Given the description of an element on the screen output the (x, y) to click on. 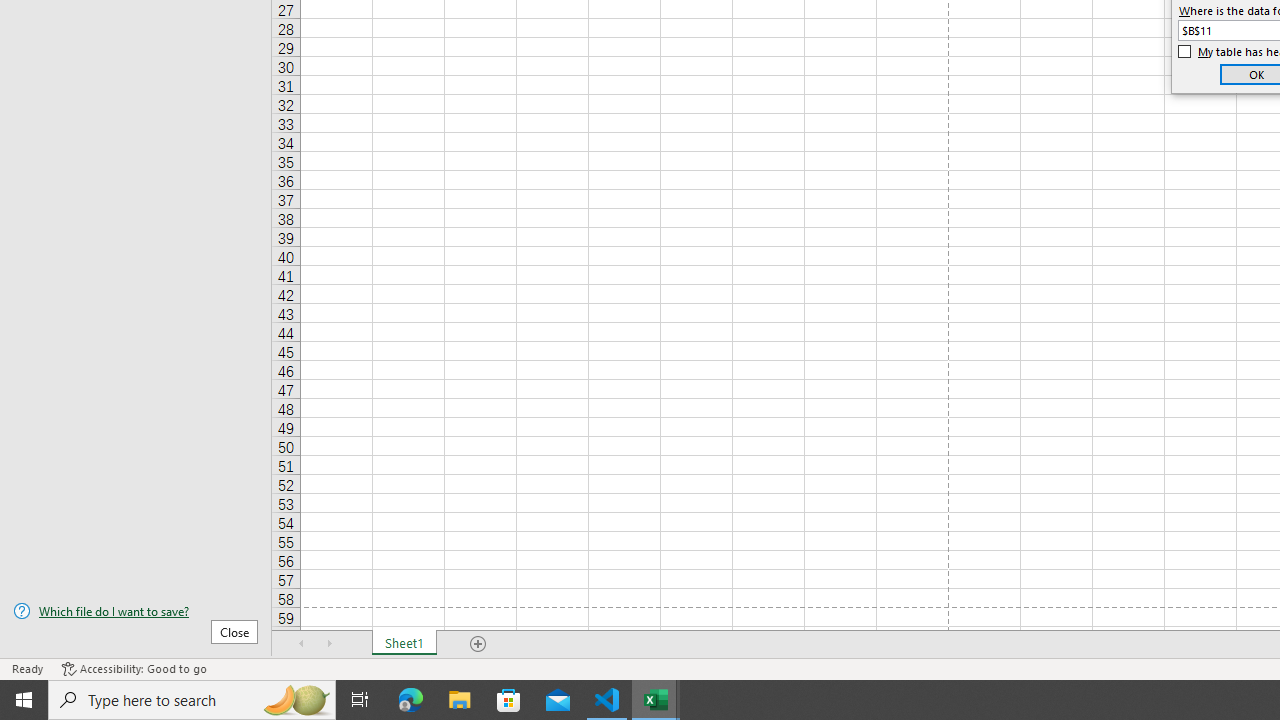
Which file do I want to save? (136, 611)
